Given the description of an element on the screen output the (x, y) to click on. 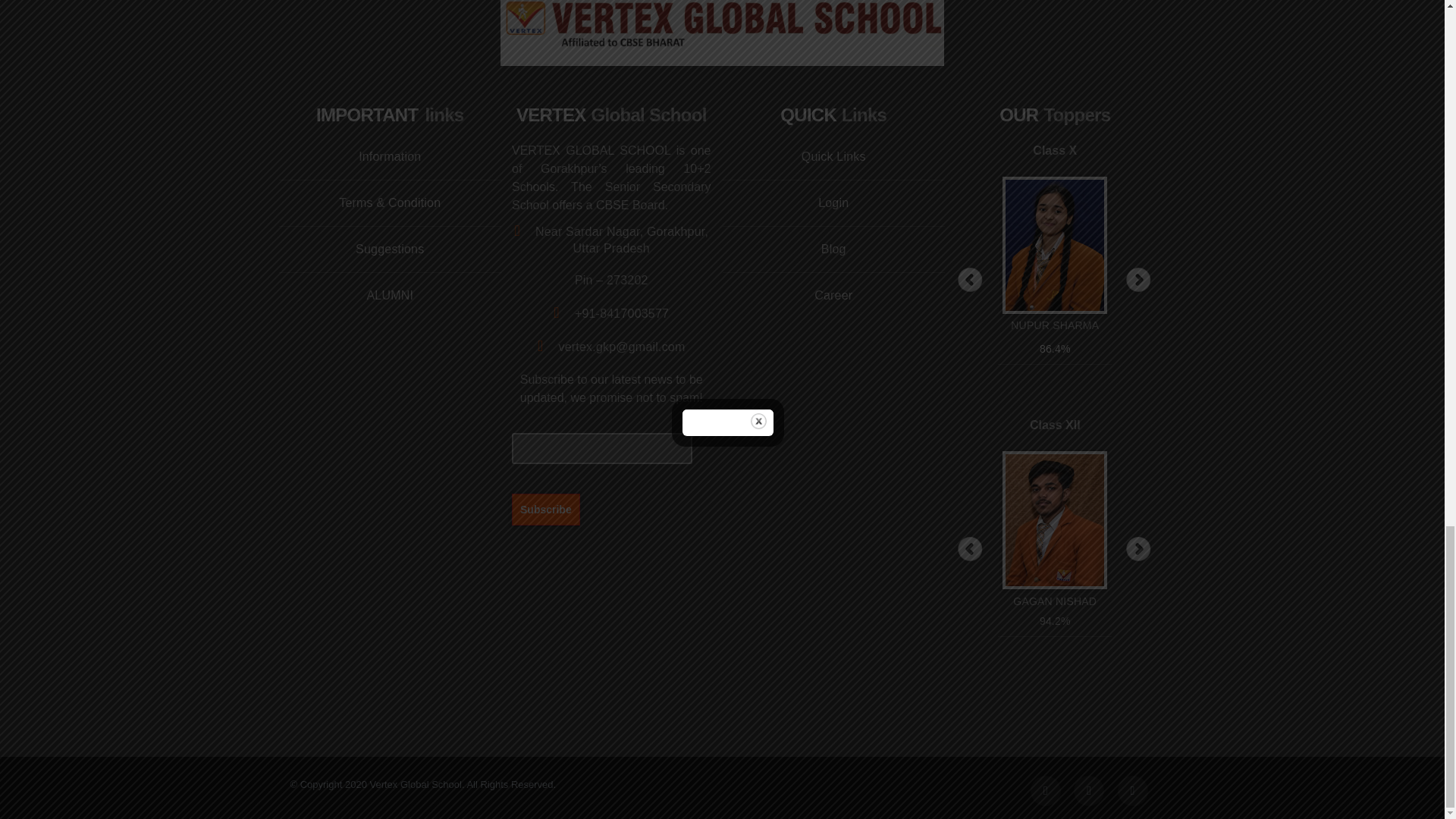
Subscribe (545, 508)
